Given the description of an element on the screen output the (x, y) to click on. 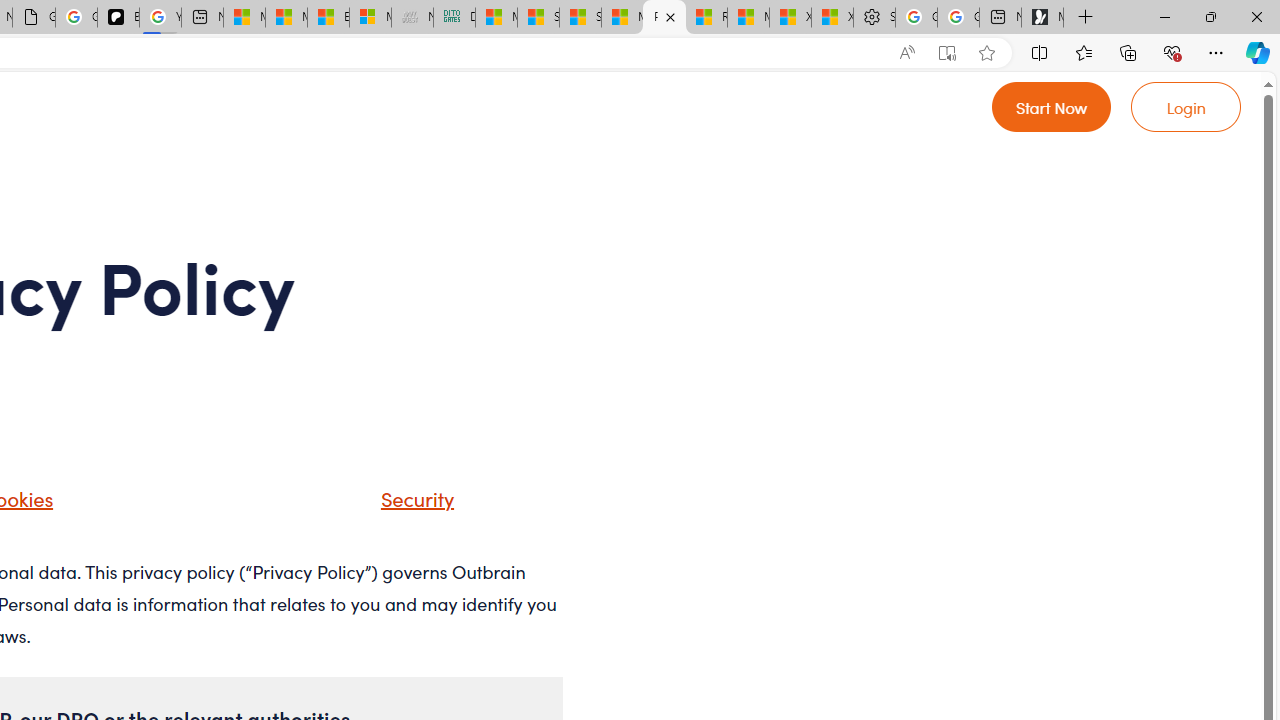
Go to login (1186, 106)
Go to Register (1051, 106)
Enter Immersive Reader (F9) (946, 53)
Security (411, 497)
Navy Quest (411, 17)
Security (392, 505)
